Given the description of an element on the screen output the (x, y) to click on. 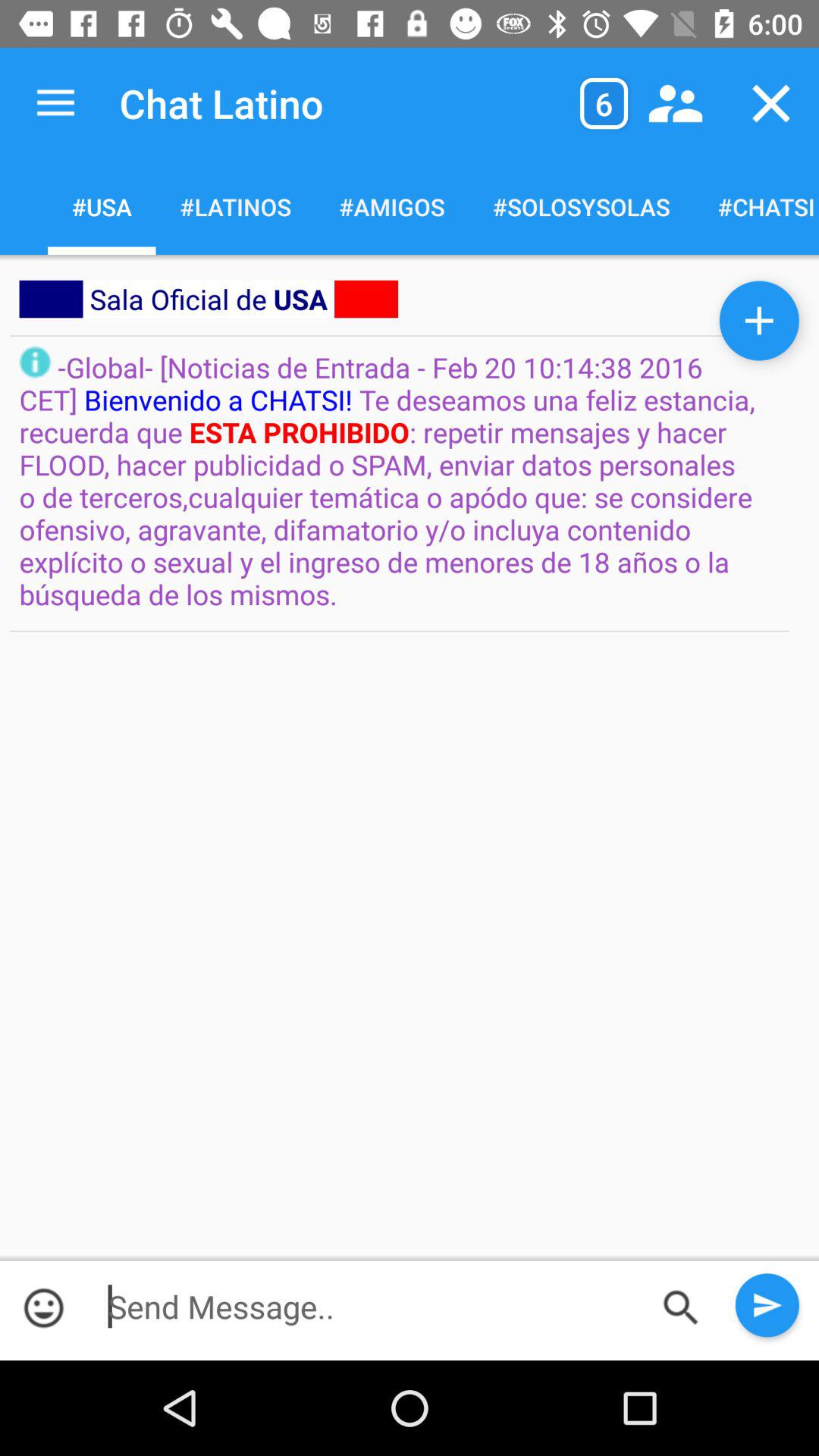
launch the item to the left of the chat latino (55, 103)
